Given the description of an element on the screen output the (x, y) to click on. 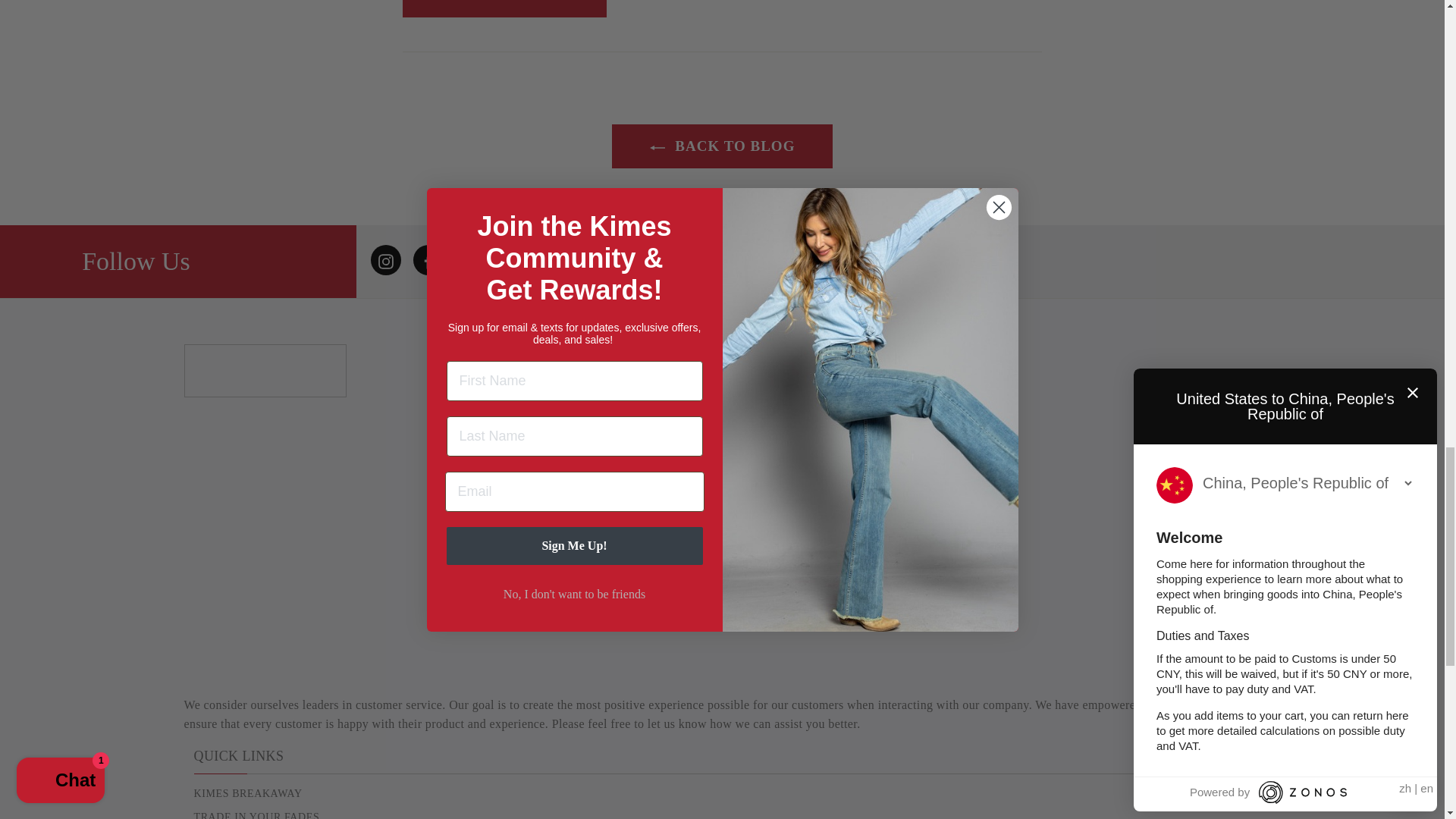
Kimes Ranch on Instagram (386, 259)
Kimes Ranch on Pinterest (512, 259)
Kimes Ranch on TikTok (555, 259)
Kimes Ranch on Facebook (428, 259)
Kimes Ranch on Twitter (470, 259)
